Given the description of an element on the screen output the (x, y) to click on. 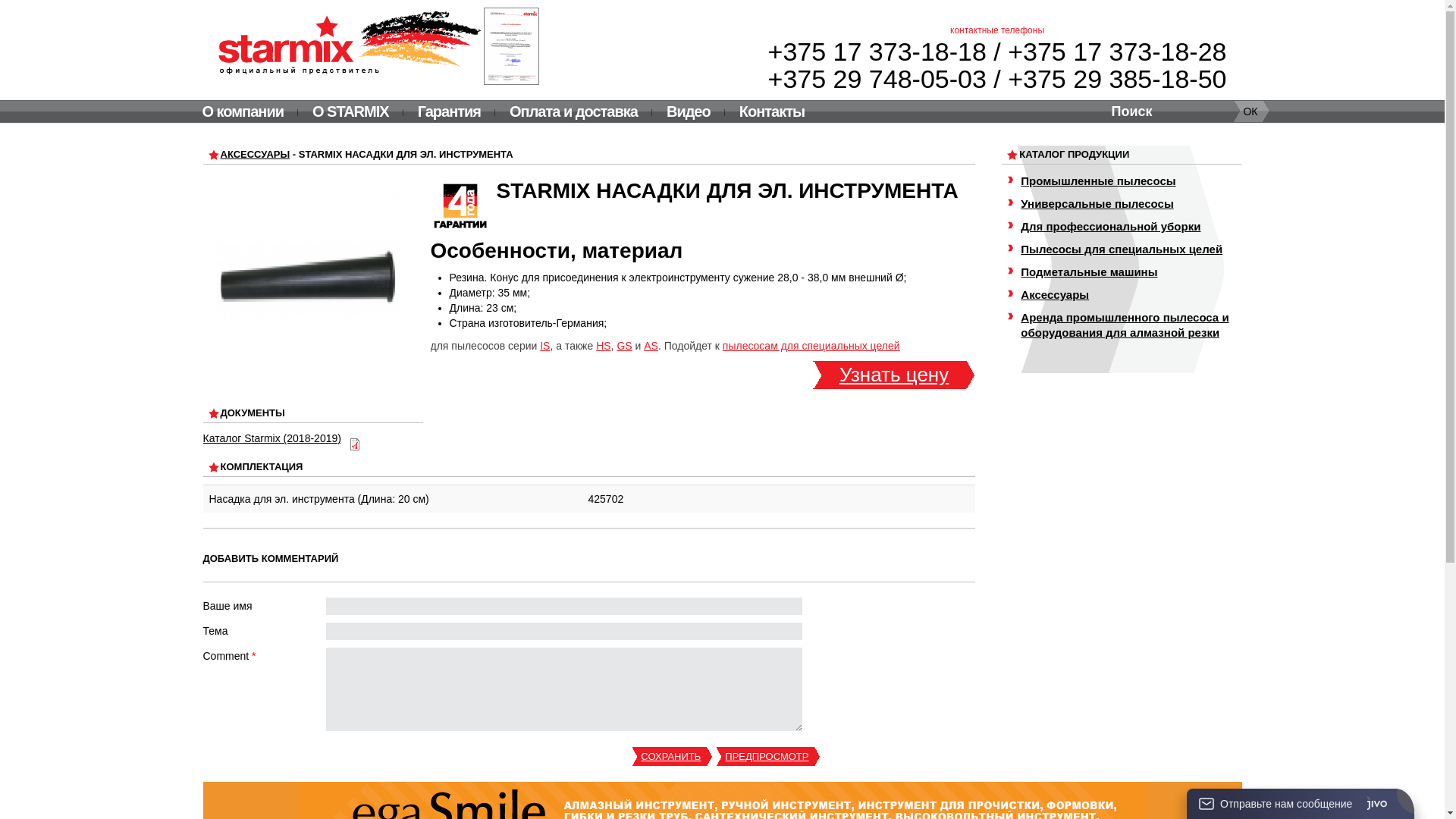
GS Element type: text (623, 345)
HS Element type: text (603, 345)
IS Element type: text (544, 345)
AS Element type: text (650, 345)
application/pdf Element type: hover (354, 444)
